Given the description of an element on the screen output the (x, y) to click on. 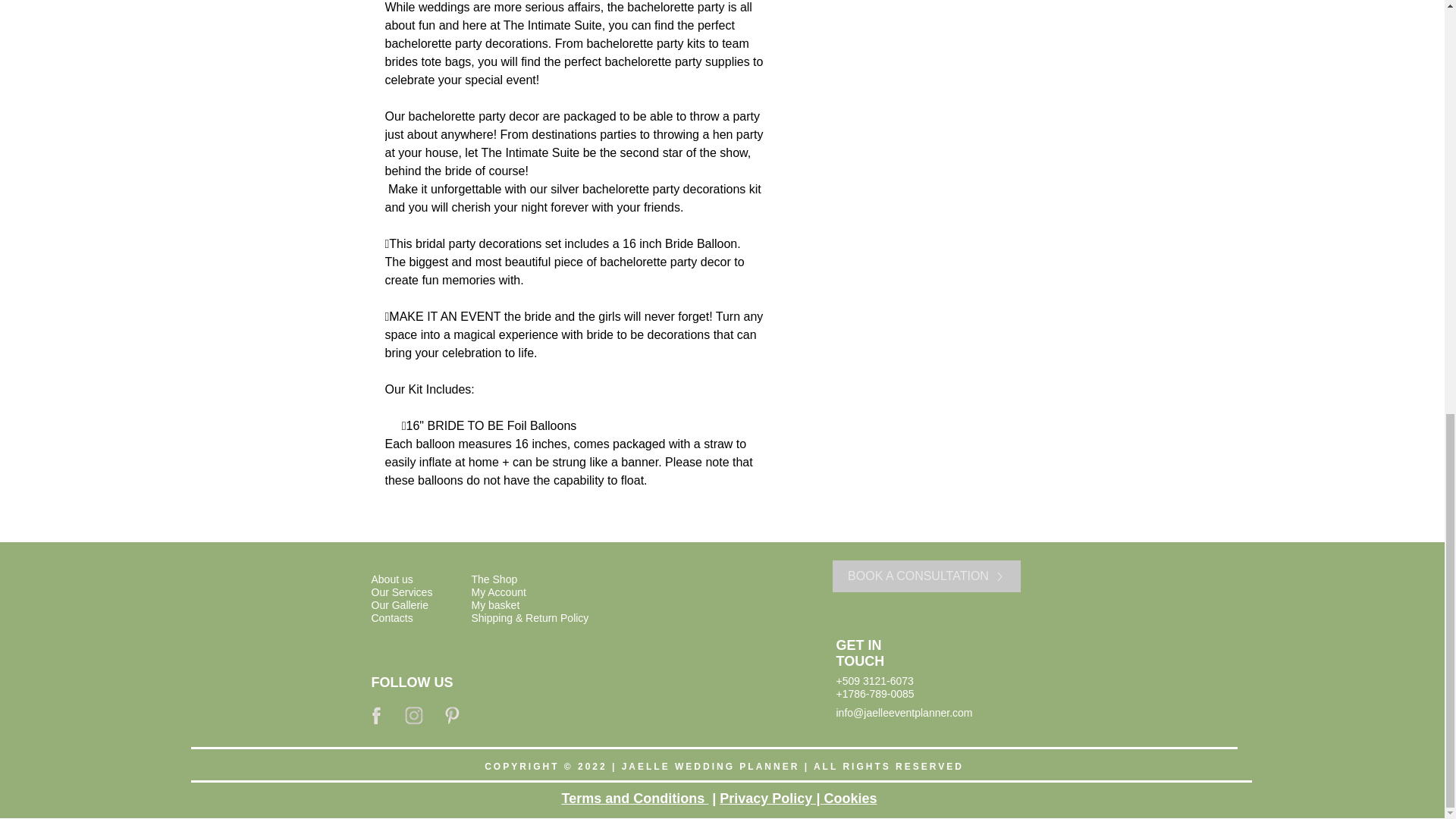
About us (392, 579)
BOOK A CONSULTATION (926, 576)
My basket (495, 604)
FOLLOW US (411, 682)
Our Gallerie (399, 604)
The Shop (494, 579)
Contacts (392, 617)
Our Services (401, 592)
My Account (498, 592)
GET IN TOUCH (859, 653)
